Given the description of an element on the screen output the (x, y) to click on. 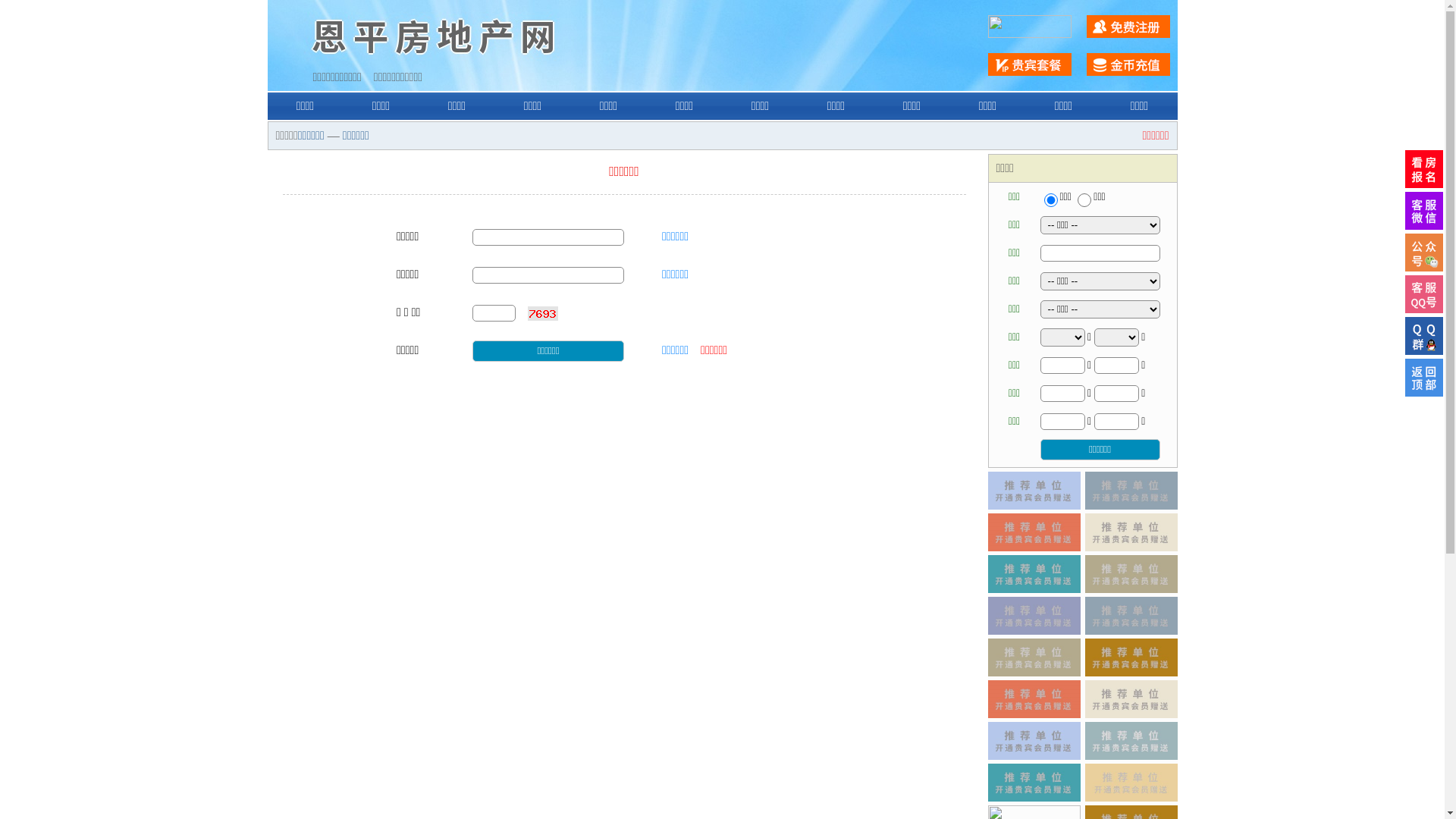
chuzu Element type: text (1084, 200)
ershou Element type: text (1050, 200)
